Given the description of an element on the screen output the (x, y) to click on. 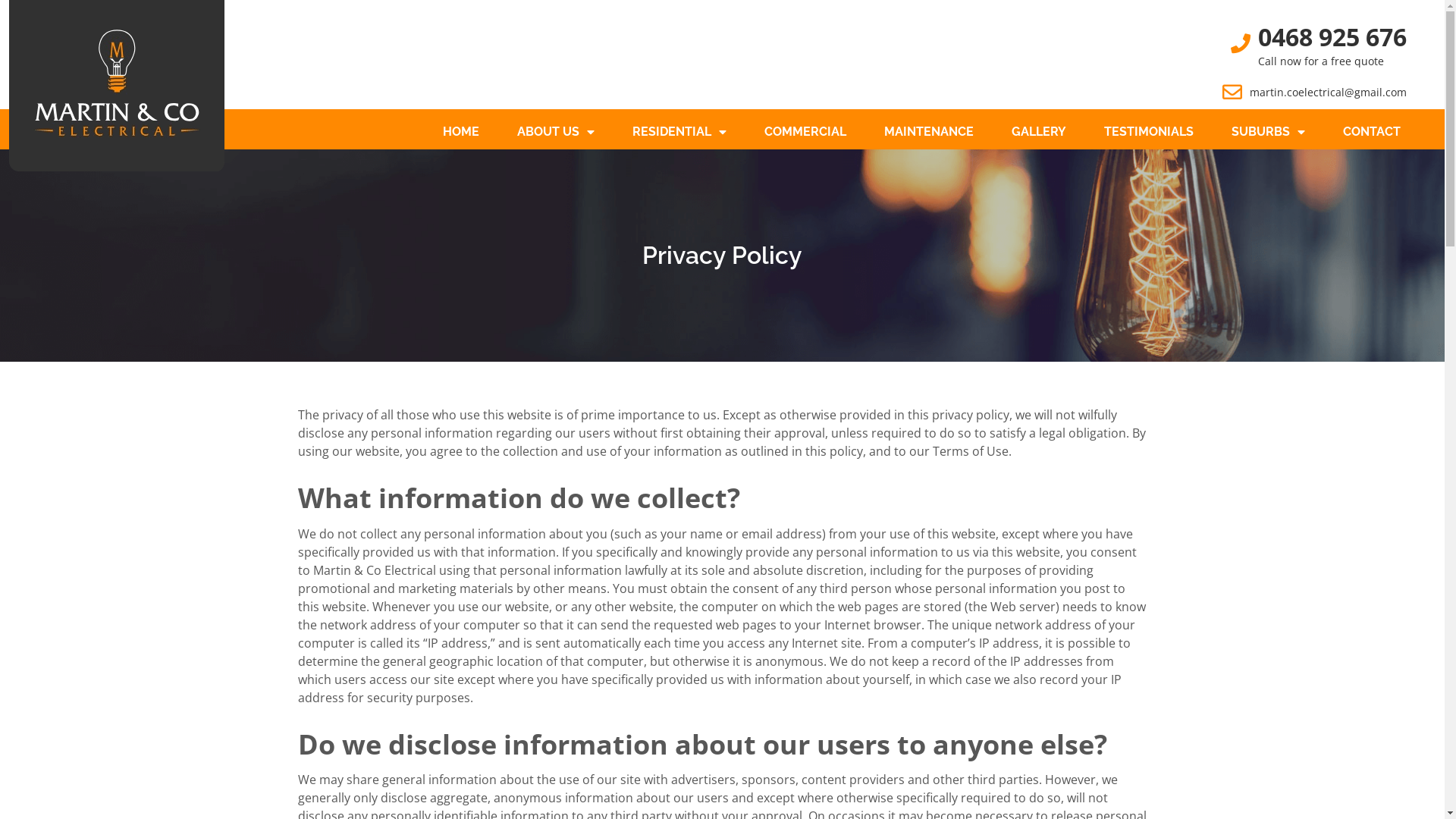
martin.coelectrical@gmail.com Element type: text (1327, 91)
RESIDENTIAL Element type: text (679, 131)
SUBURBS Element type: text (1268, 131)
HOME Element type: text (460, 131)
TESTIMONIALS Element type: text (1148, 131)
GALLERY Element type: text (1038, 131)
CONTACT Element type: text (1371, 131)
0468 925 676 Element type: text (1332, 36)
ABOUT US Element type: text (555, 131)
COMMERCIAL Element type: text (805, 131)
MAINTENANCE Element type: text (928, 131)
